Given the description of an element on the screen output the (x, y) to click on. 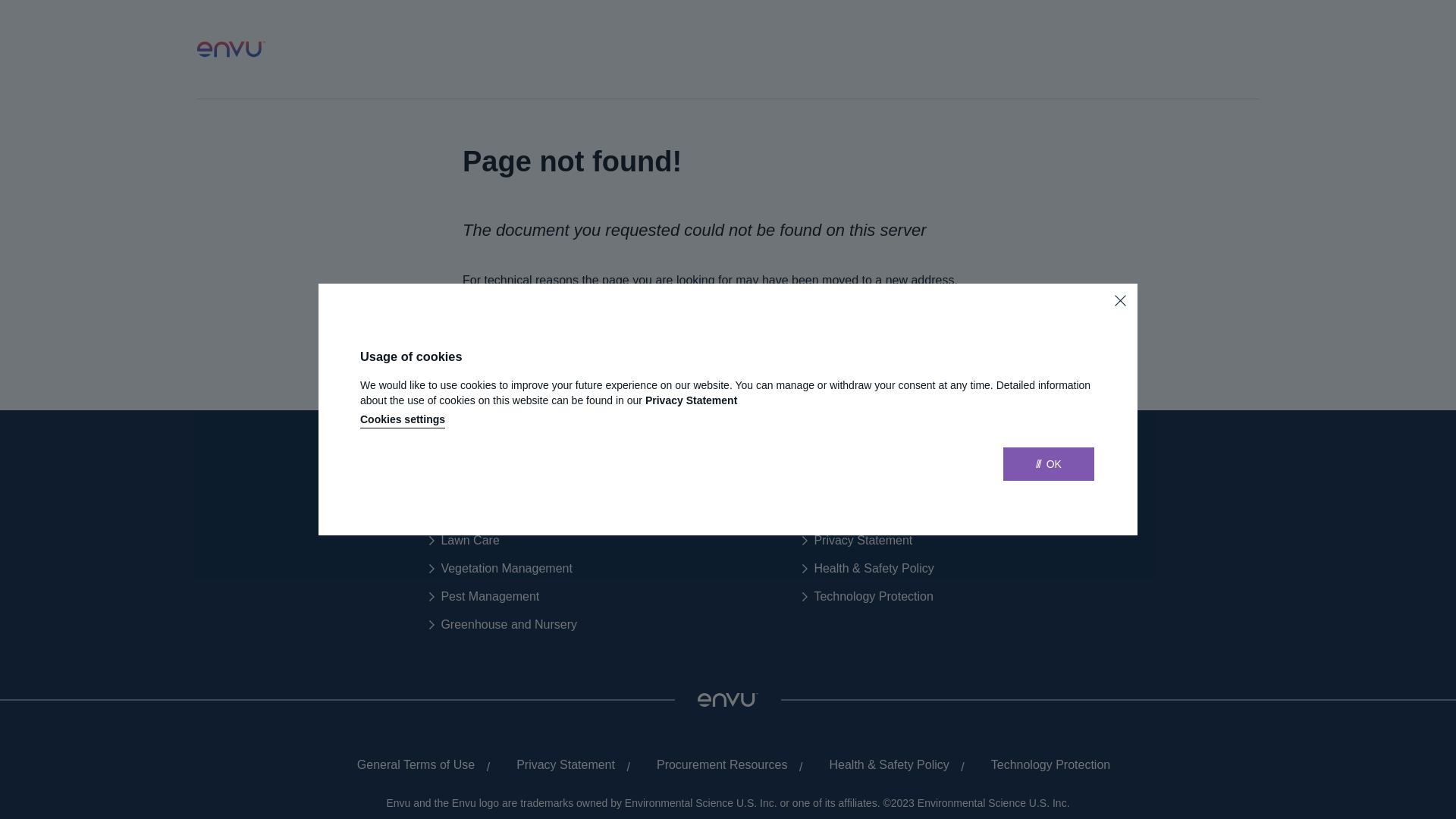
Technology Protection Element type: text (1044, 764)
Privacy Statement Element type: text (560, 764)
Vegetation Management Element type: text (500, 568)
Technology Protection Element type: text (867, 596)
Privacy Statement Element type: text (857, 540)
Lawn Care Element type: text (463, 540)
Privacy Statement Element type: text (691, 400)
Golf Course Element type: text (467, 512)
Cookies settings Element type: text (402, 420)
Health & Safety Policy Element type: text (867, 568)
General Terms of Use Element type: text (866, 512)
General Terms of Use Element type: text (409, 764)
OK Element type: text (1048, 463)
Health & Safety Policy Element type: text (882, 764)
Pest Management Element type: text (484, 596)
Greenhouse and Nursery Element type: text (503, 624)
Procurement Resources Element type: text (716, 764)
